Given the description of an element on the screen output the (x, y) to click on. 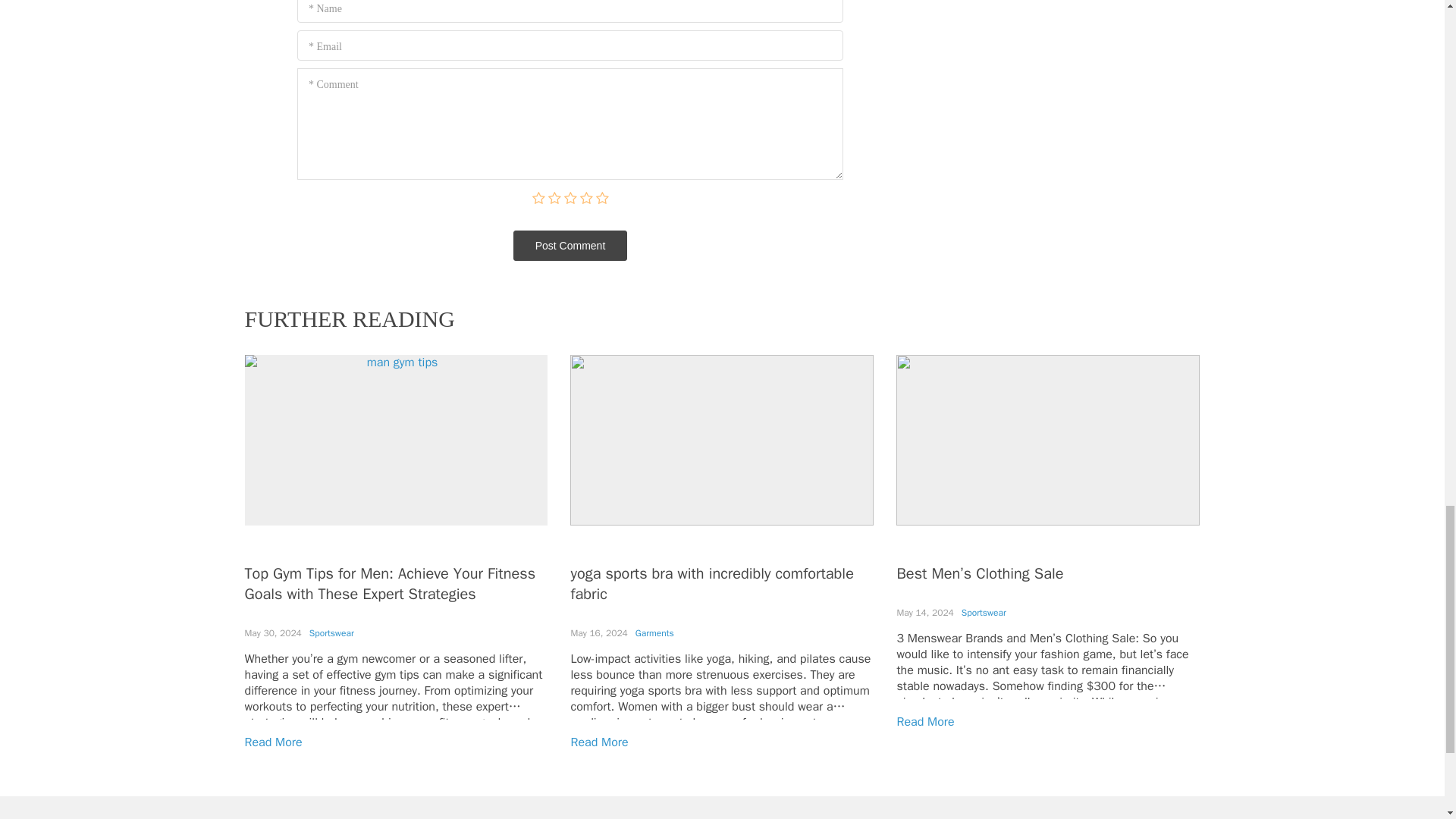
yoga sports bra with incredibly comfortable fabric (711, 583)
Sportswear (330, 633)
Read More (924, 721)
Garments (654, 633)
Sportswear (983, 612)
Read More (598, 742)
Read More (272, 742)
